Given the description of an element on the screen output the (x, y) to click on. 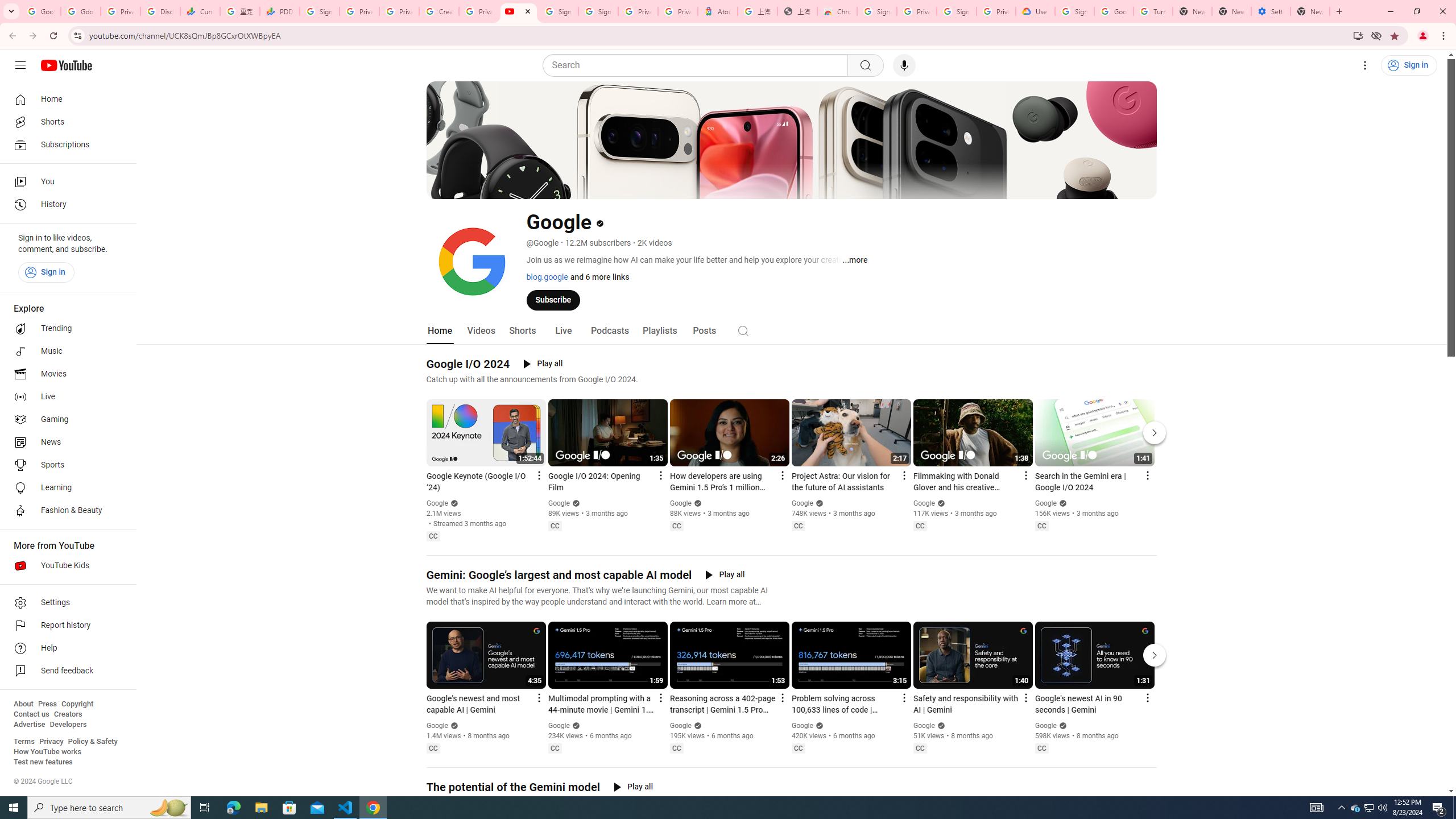
Test new features (42, 761)
Learning (64, 487)
Creators (67, 714)
Settings - System (1270, 11)
Fashion & Beauty (64, 510)
Sign in - Google Accounts (319, 11)
Turn cookies on or off - Computer - Google Account Help (1152, 11)
Subscriptions (64, 144)
Home (440, 330)
Settings (64, 602)
